Given the description of an element on the screen output the (x, y) to click on. 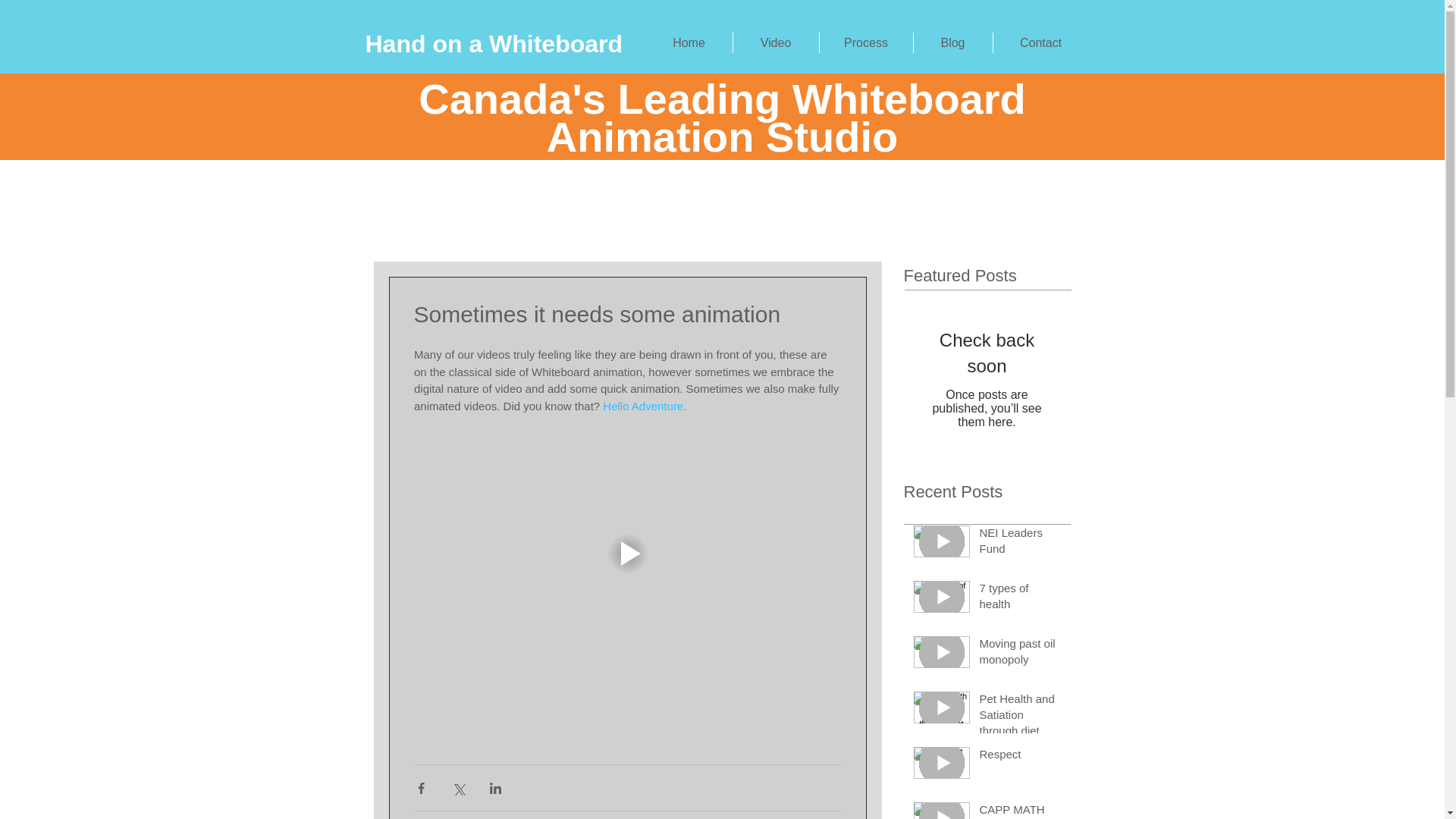
NEI Leaders Fund (1020, 543)
Blog (952, 42)
Contact (1039, 42)
7 types of health (1020, 598)
CAPP MATH (1020, 810)
Pet Health and Satiation through diet (1020, 717)
Hello Adventure. (643, 404)
Home (689, 42)
Moving past oil monopoly (1020, 654)
Process (865, 42)
